Given the description of an element on the screen output the (x, y) to click on. 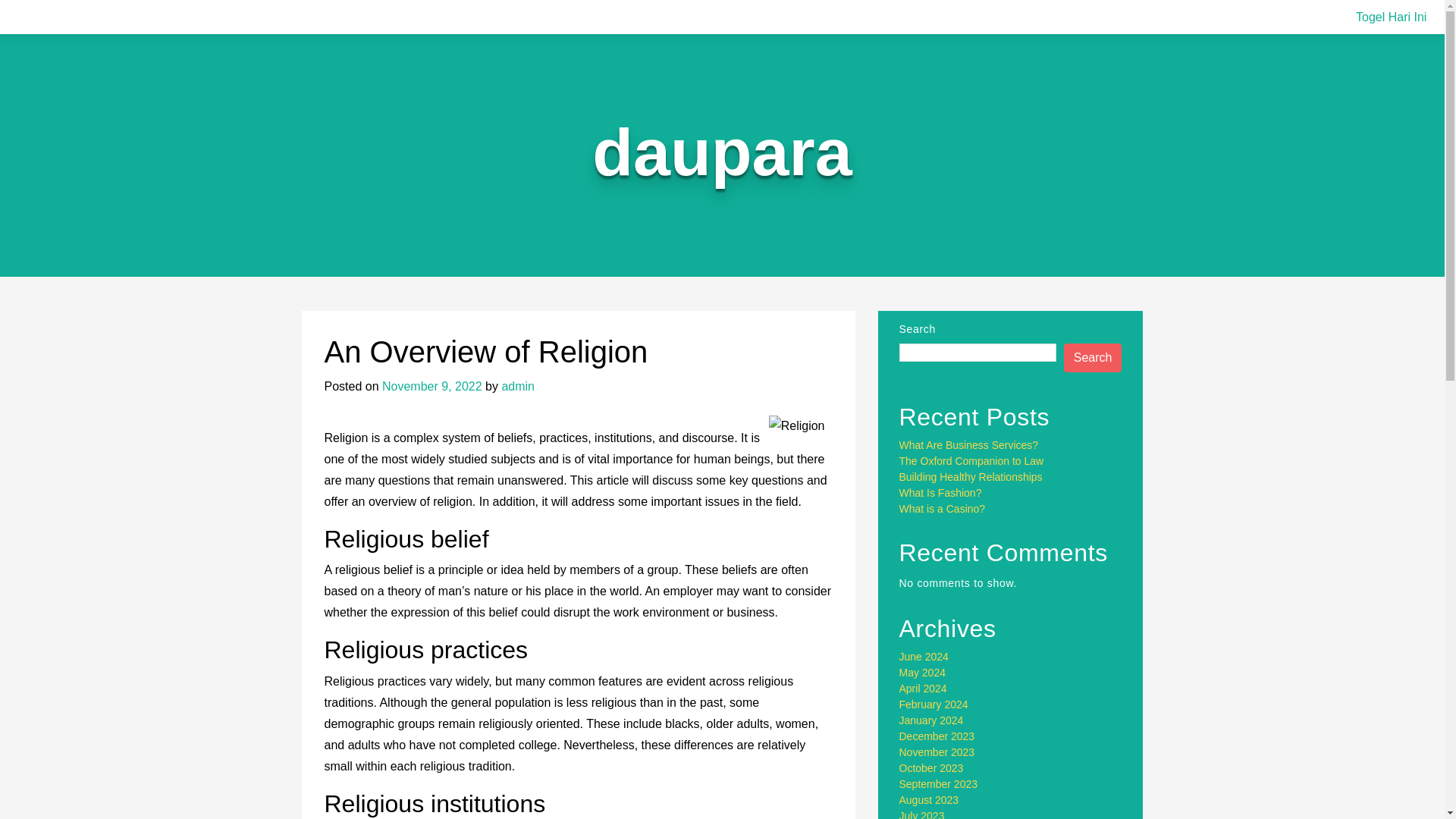
Building Healthy Relationships (970, 476)
June 2024 (924, 656)
Search (1093, 357)
September 2023 (938, 784)
April 2024 (923, 688)
Togel Hari Ini (1390, 16)
Togel Hari Ini (1390, 16)
November 9, 2022 (431, 386)
The Oxford Companion to Law (971, 460)
January 2024 (931, 720)
